Given the description of an element on the screen output the (x, y) to click on. 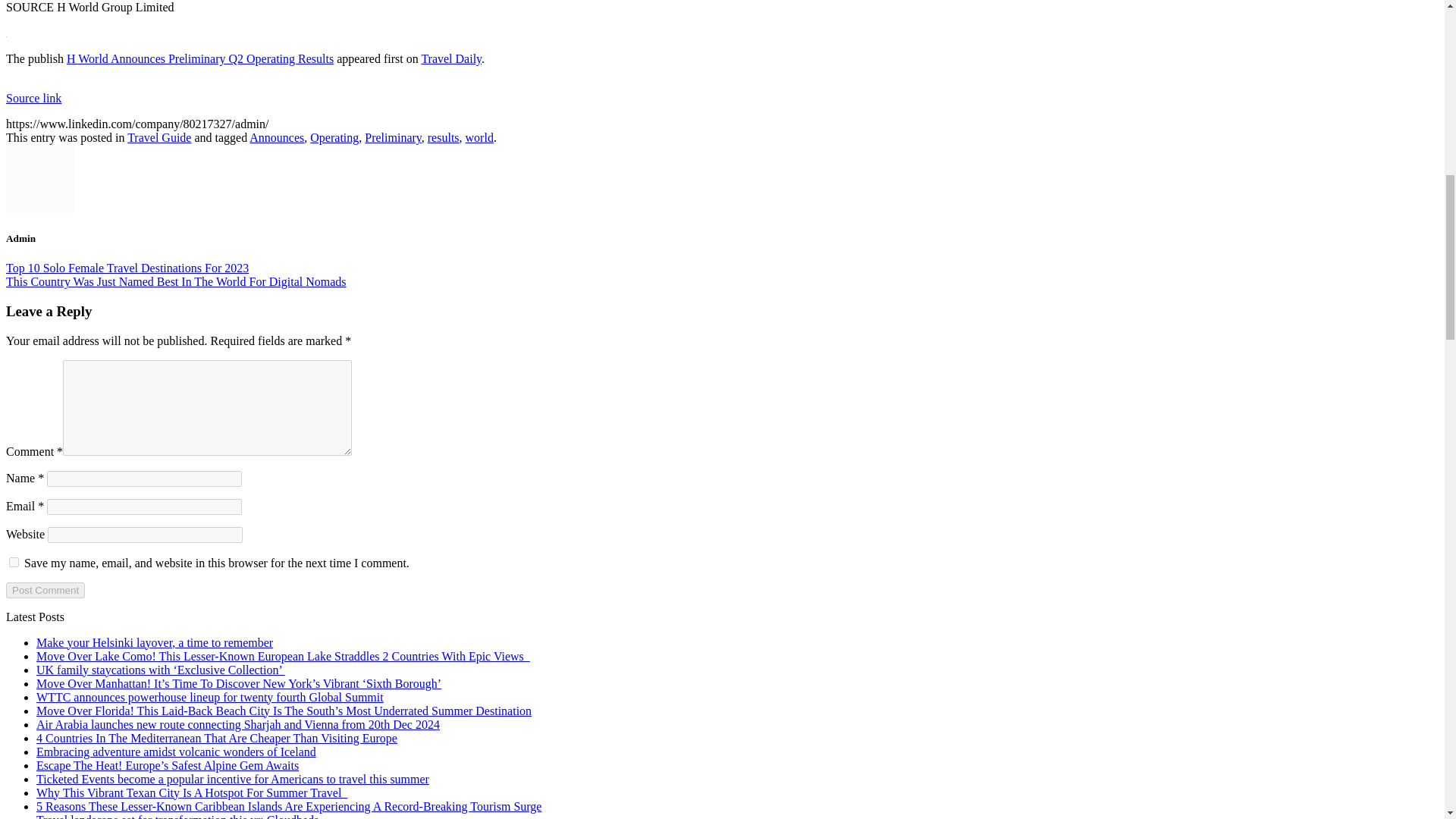
H World Announces Preliminary Q2 Operating Results (199, 58)
world (479, 137)
Source link (33, 97)
results (444, 137)
Make your Helsinki layover, a time to remember (154, 642)
Preliminary (393, 137)
Travel landscape set for transformation this yr: Cloudbeds (177, 816)
Operating (334, 137)
yes (13, 562)
